Given the description of an element on the screen output the (x, y) to click on. 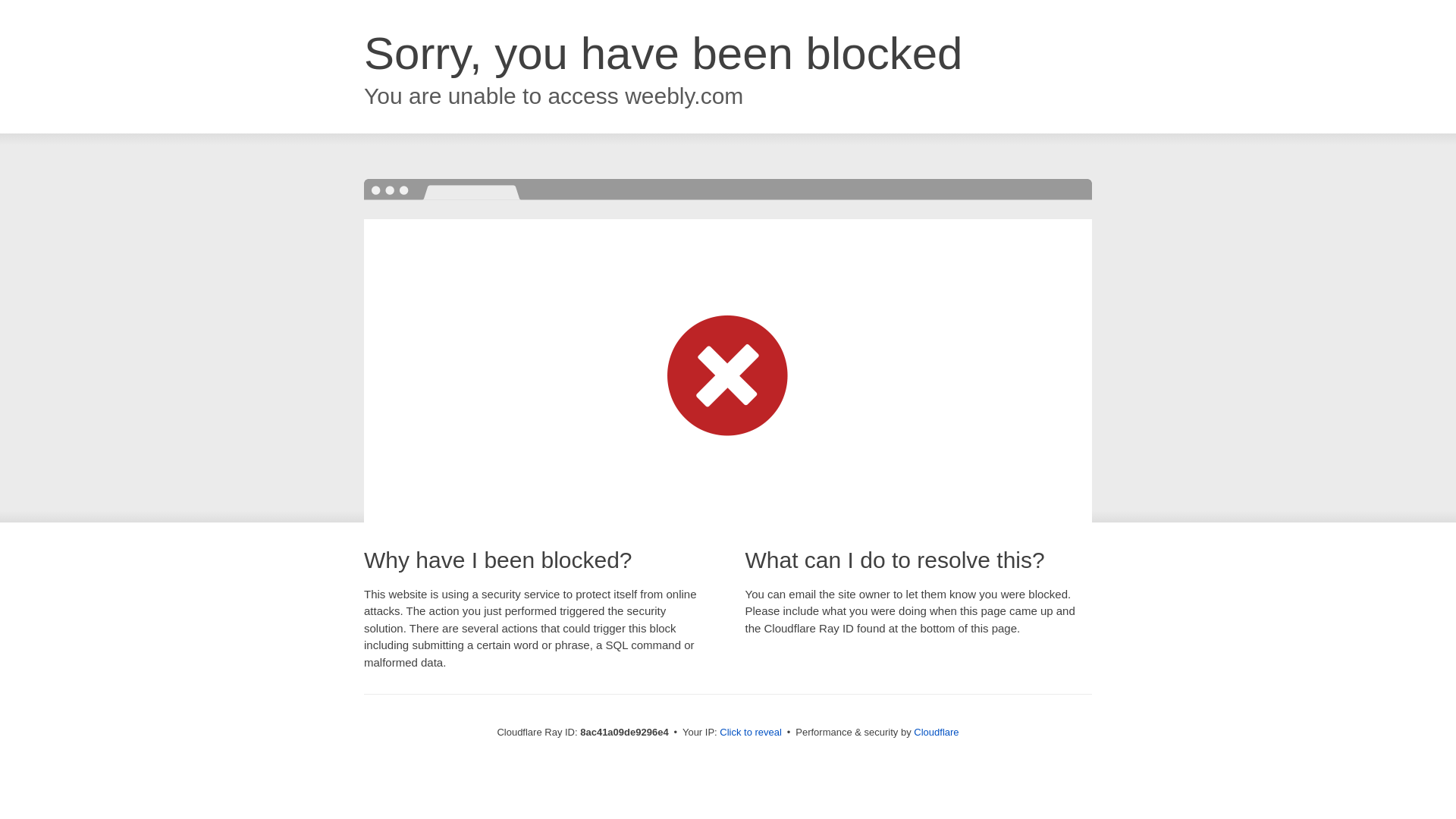
Cloudflare (936, 731)
Click to reveal (750, 732)
